Given the description of an element on the screen output the (x, y) to click on. 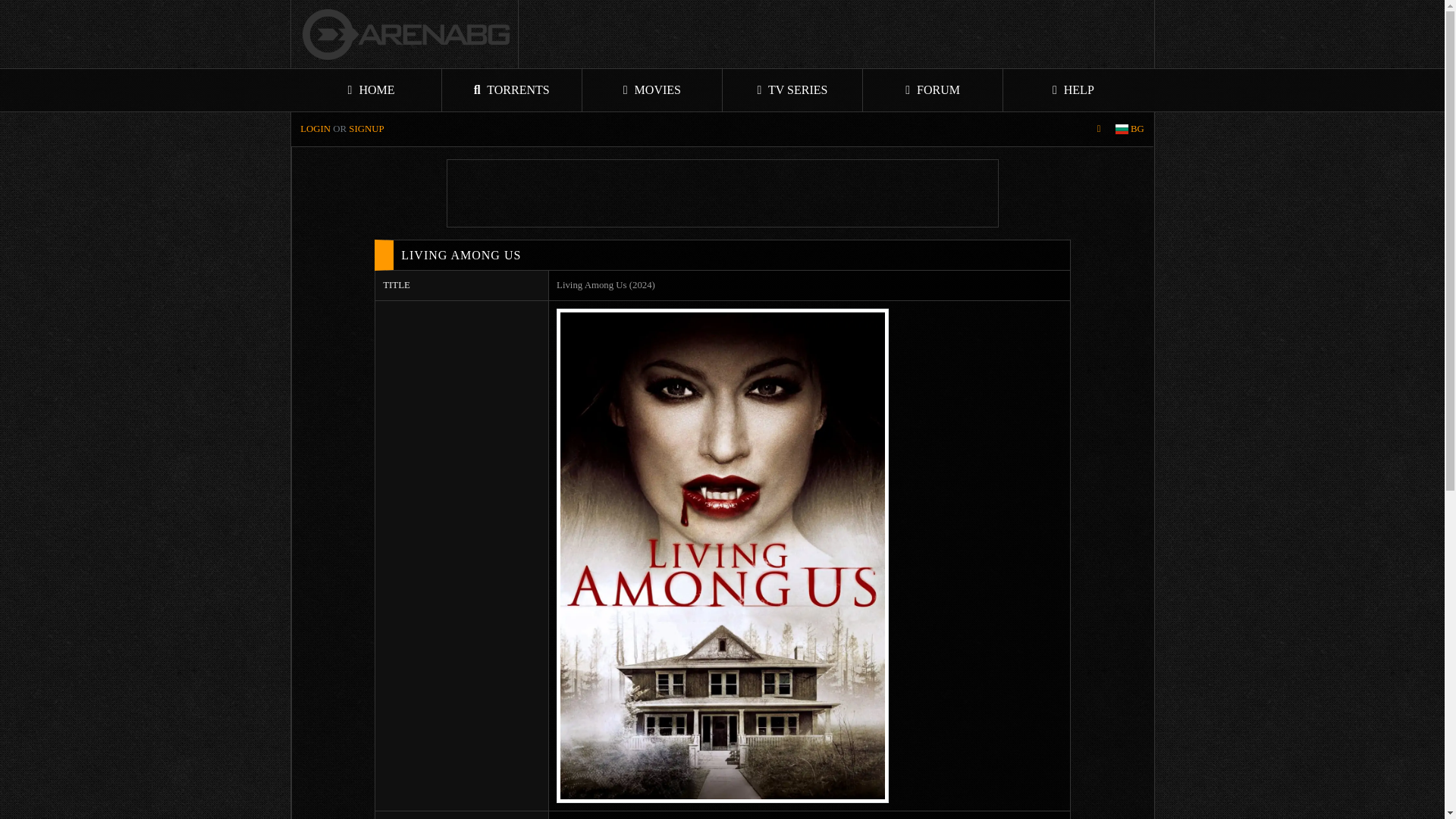
MOVIES (652, 89)
TORRENTS (512, 89)
HOME (371, 89)
LOGIN (314, 129)
TV SERIES (792, 89)
BG (1129, 128)
SIGNUP (366, 129)
FORUM (933, 89)
HELP (1072, 89)
